Given the description of an element on the screen output the (x, y) to click on. 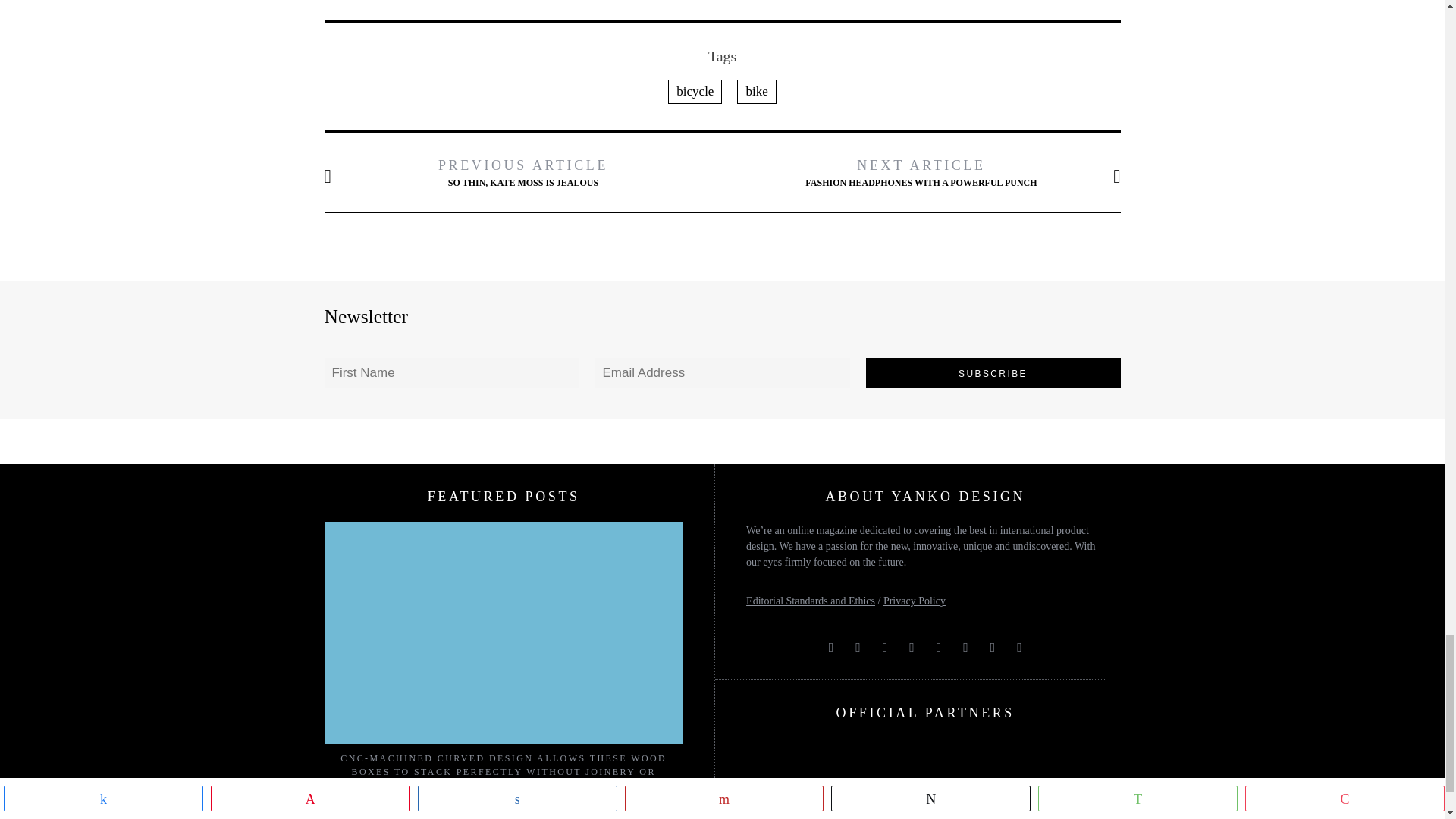
Privacy Policy (913, 600)
Editorial Standards and Ethics (810, 600)
Subscribe (993, 372)
